Given the description of an element on the screen output the (x, y) to click on. 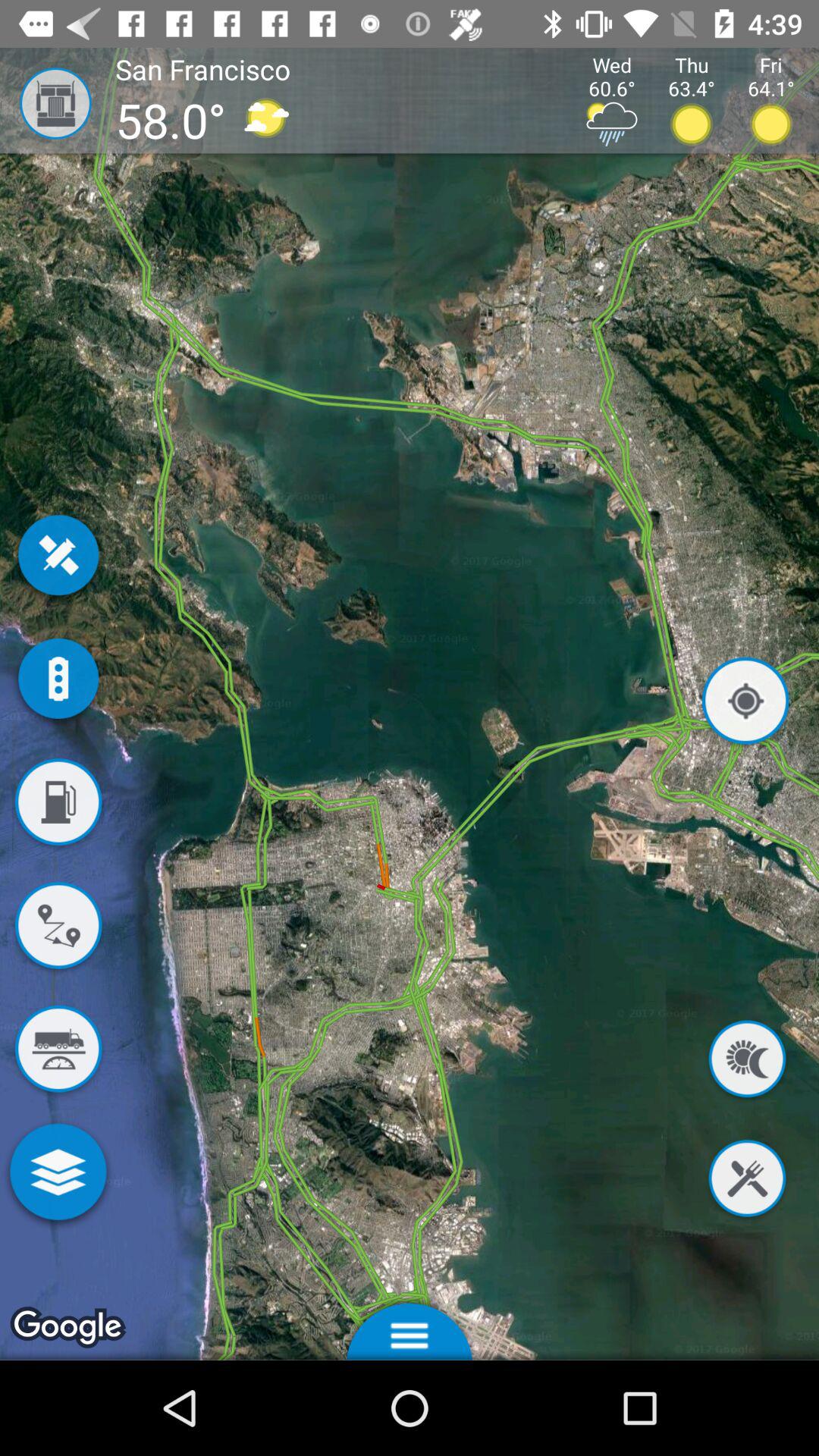
change to night view (747, 1061)
